Given the description of an element on the screen output the (x, y) to click on. 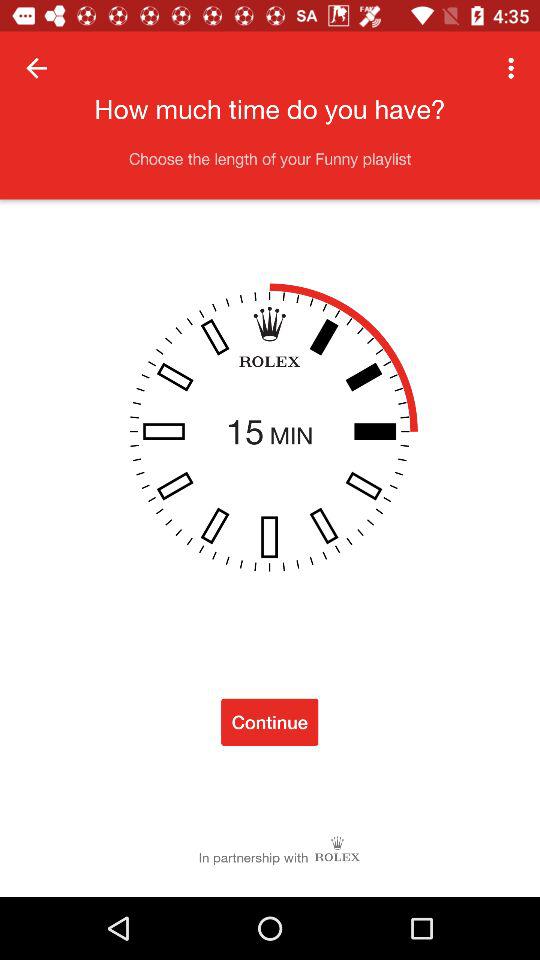
open item above choose the length icon (36, 68)
